Given the description of an element on the screen output the (x, y) to click on. 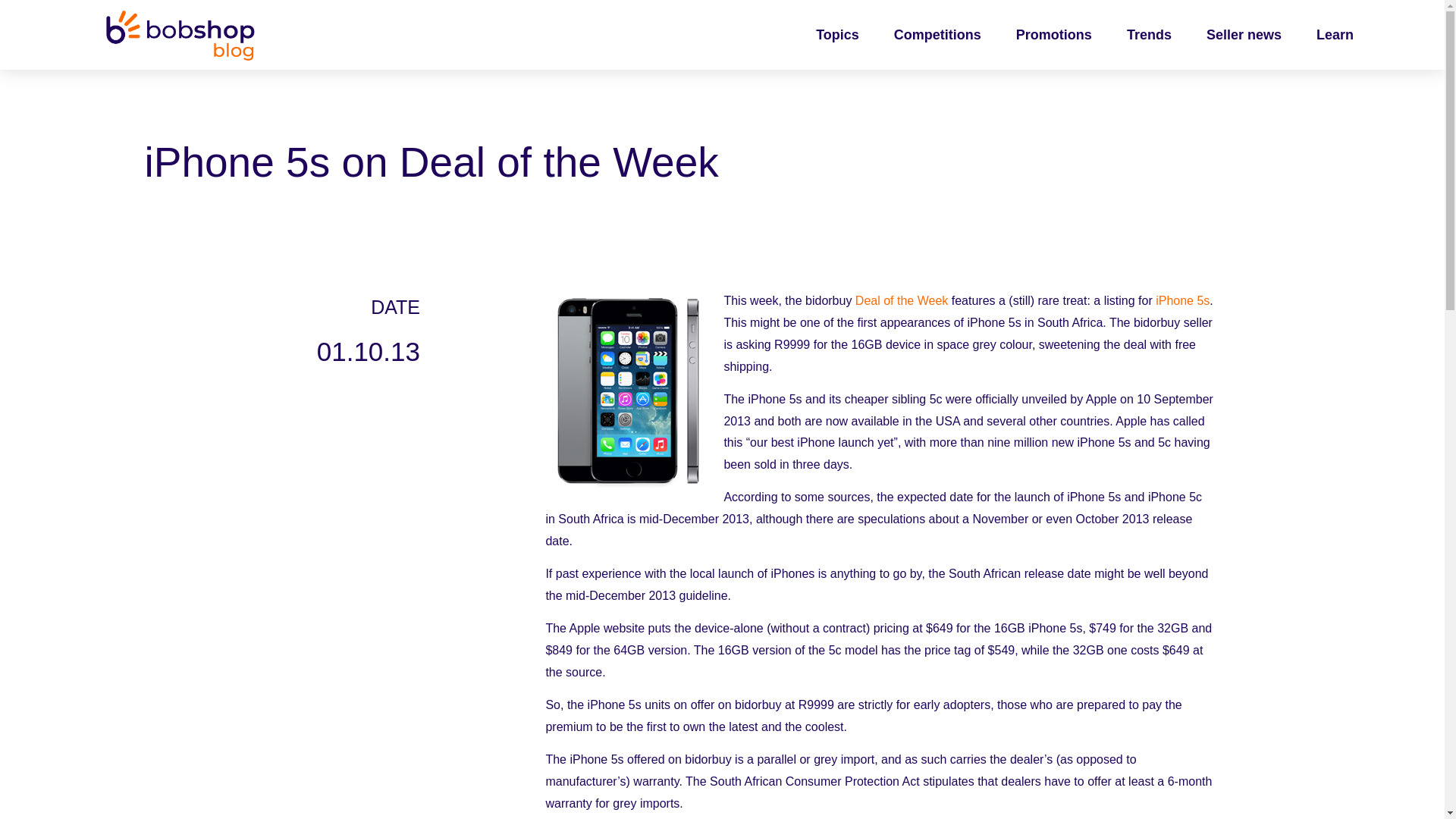
iPhone 5s (1182, 300)
Trends (1149, 34)
Seller news (1244, 34)
Deal of the Week (901, 300)
Learn (1334, 34)
Promotions (1053, 34)
Topics (837, 34)
Competitions (937, 34)
